Given the description of an element on the screen output the (x, y) to click on. 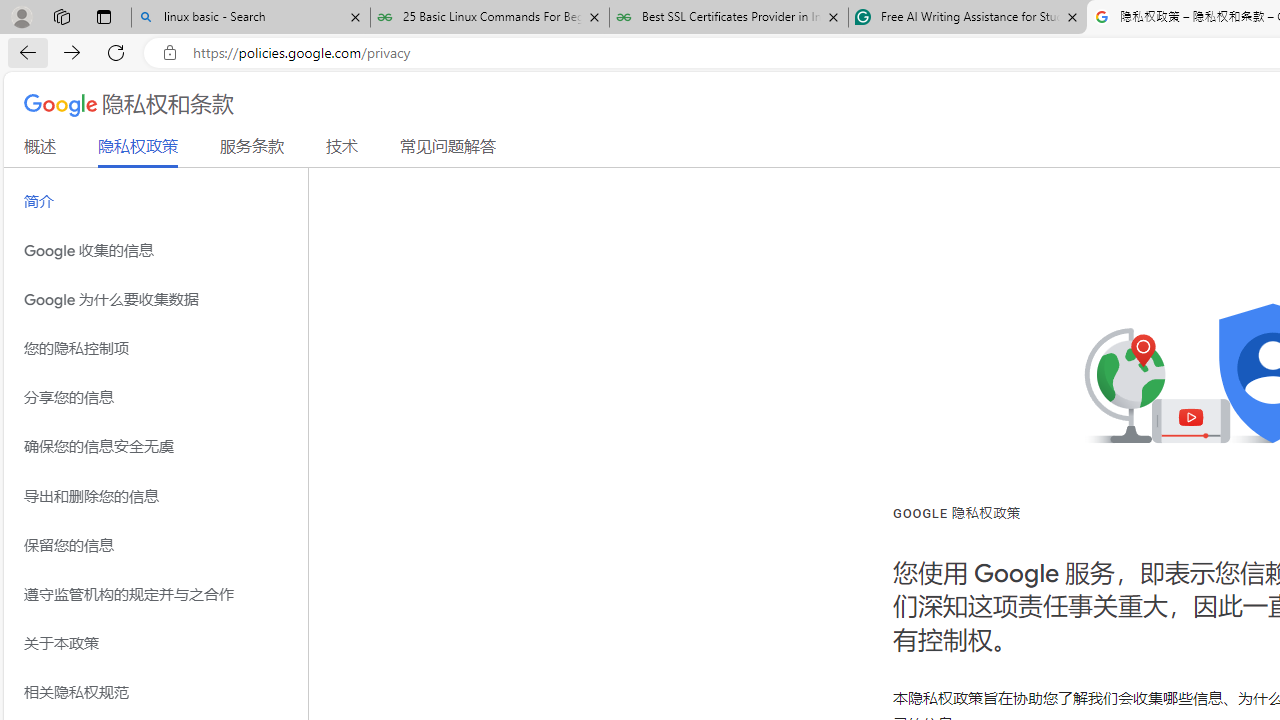
Best SSL Certificates Provider in India - GeeksforGeeks (729, 17)
